Given the description of an element on the screen output the (x, y) to click on. 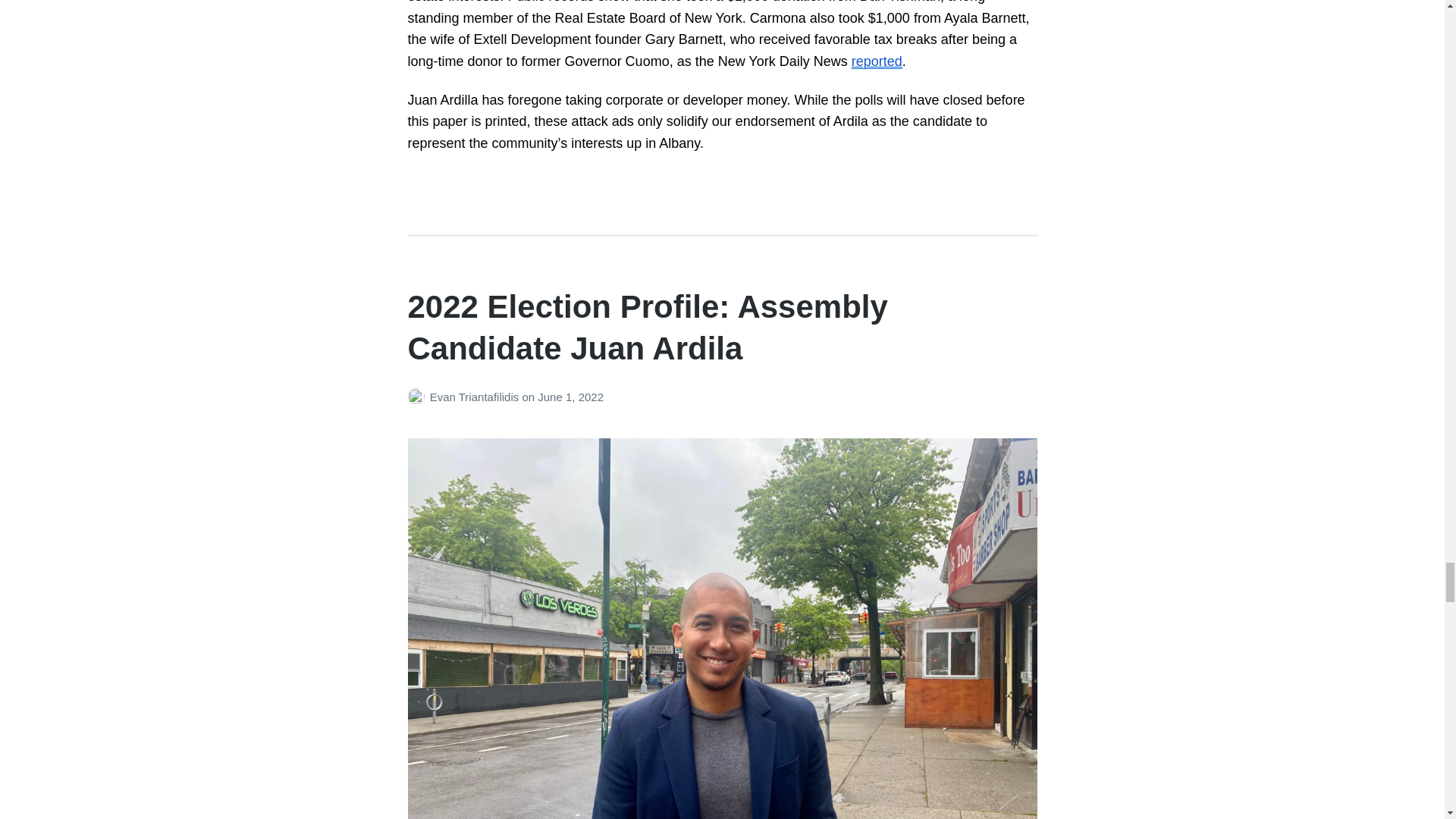
Posts by Evan Triantafilidis (418, 396)
